Given the description of an element on the screen output the (x, y) to click on. 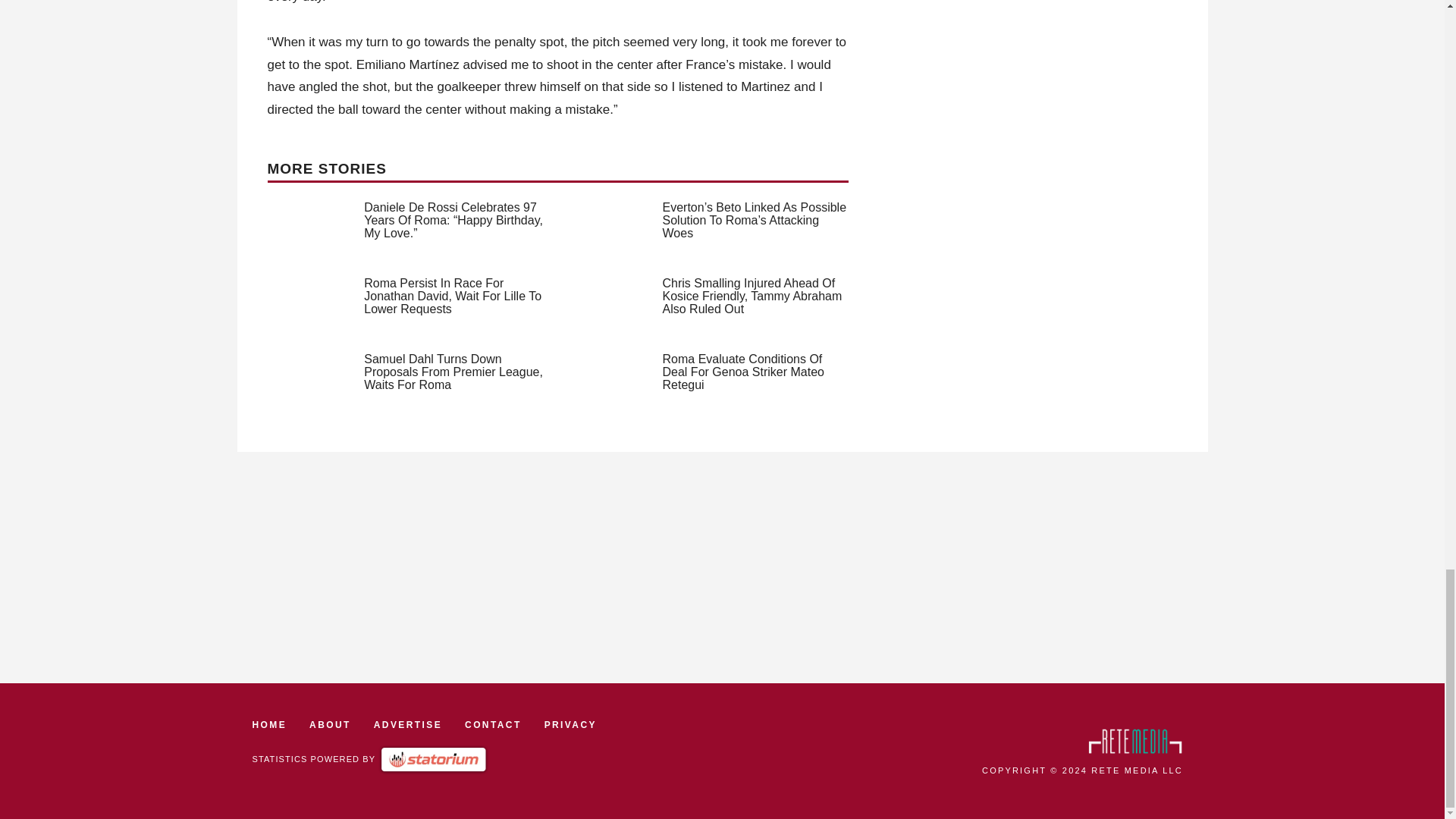
ABOUT (329, 725)
HOME (268, 725)
PRIVACY (570, 725)
ADVERTISE (408, 725)
CONTACT (492, 725)
